Given the description of an element on the screen output the (x, y) to click on. 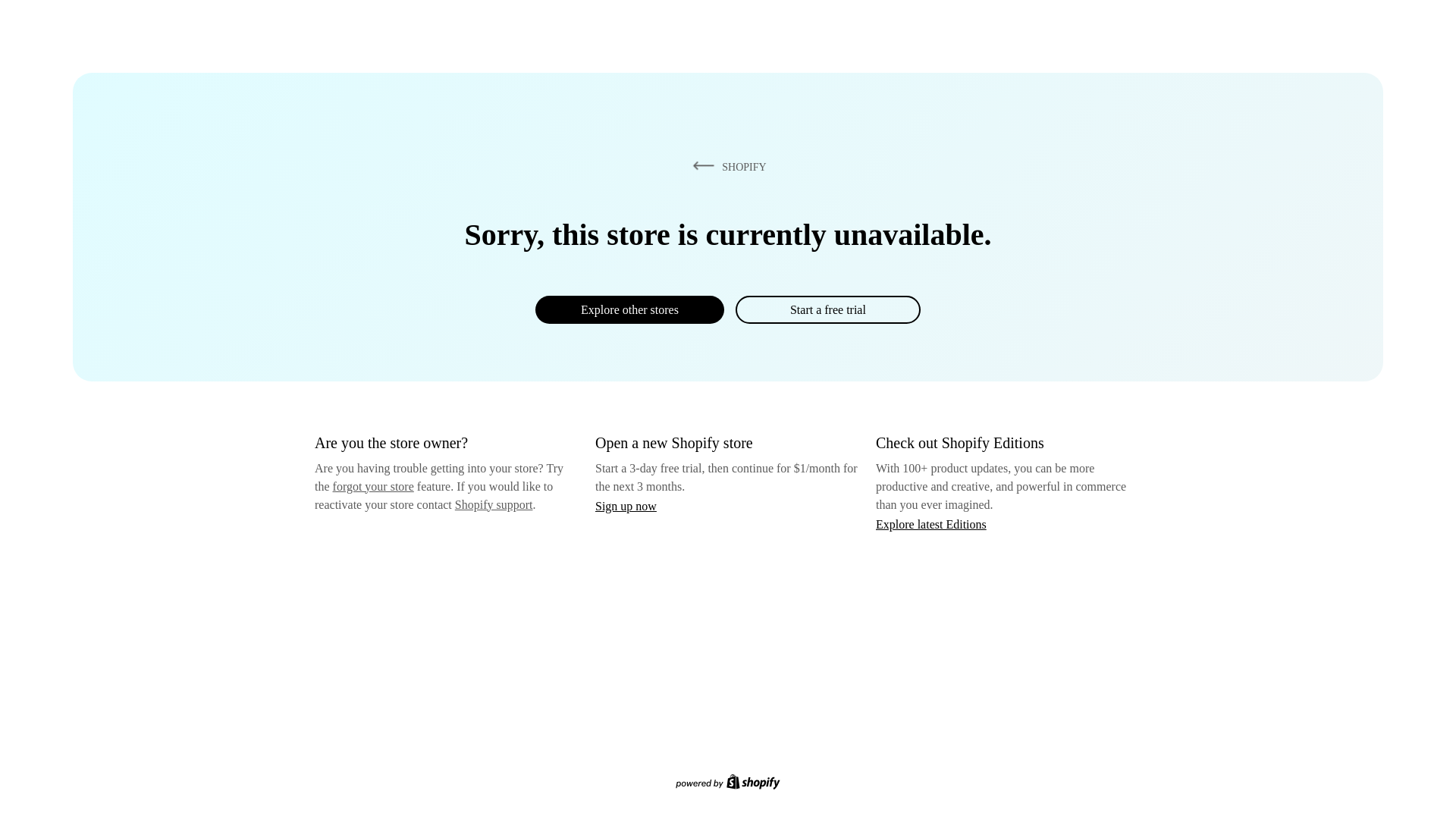
forgot your store (373, 486)
Sign up now (625, 505)
Explore latest Editions (931, 523)
Shopify support (493, 504)
Explore other stores (629, 309)
SHOPIFY (726, 166)
Start a free trial (827, 309)
